Given the description of an element on the screen output the (x, y) to click on. 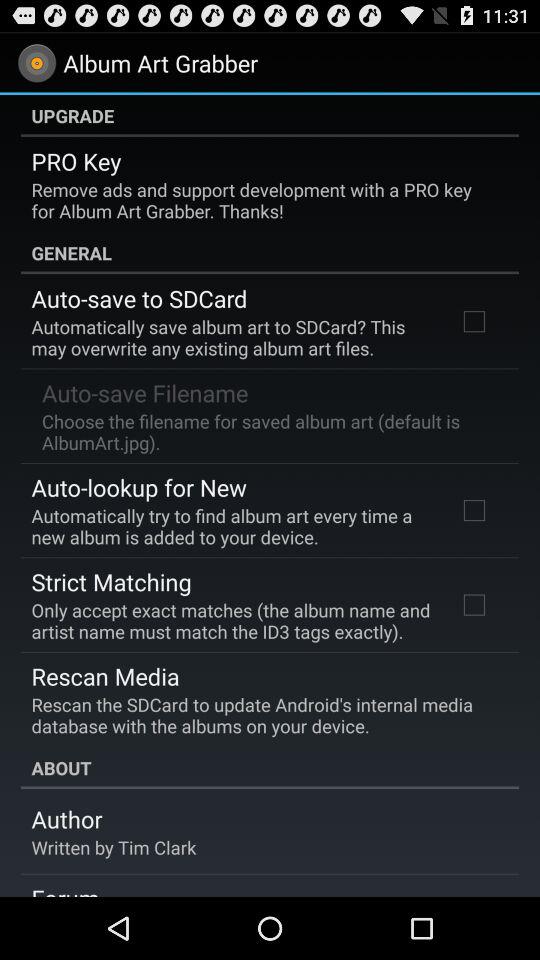
jump until remove ads and (263, 200)
